Given the description of an element on the screen output the (x, y) to click on. 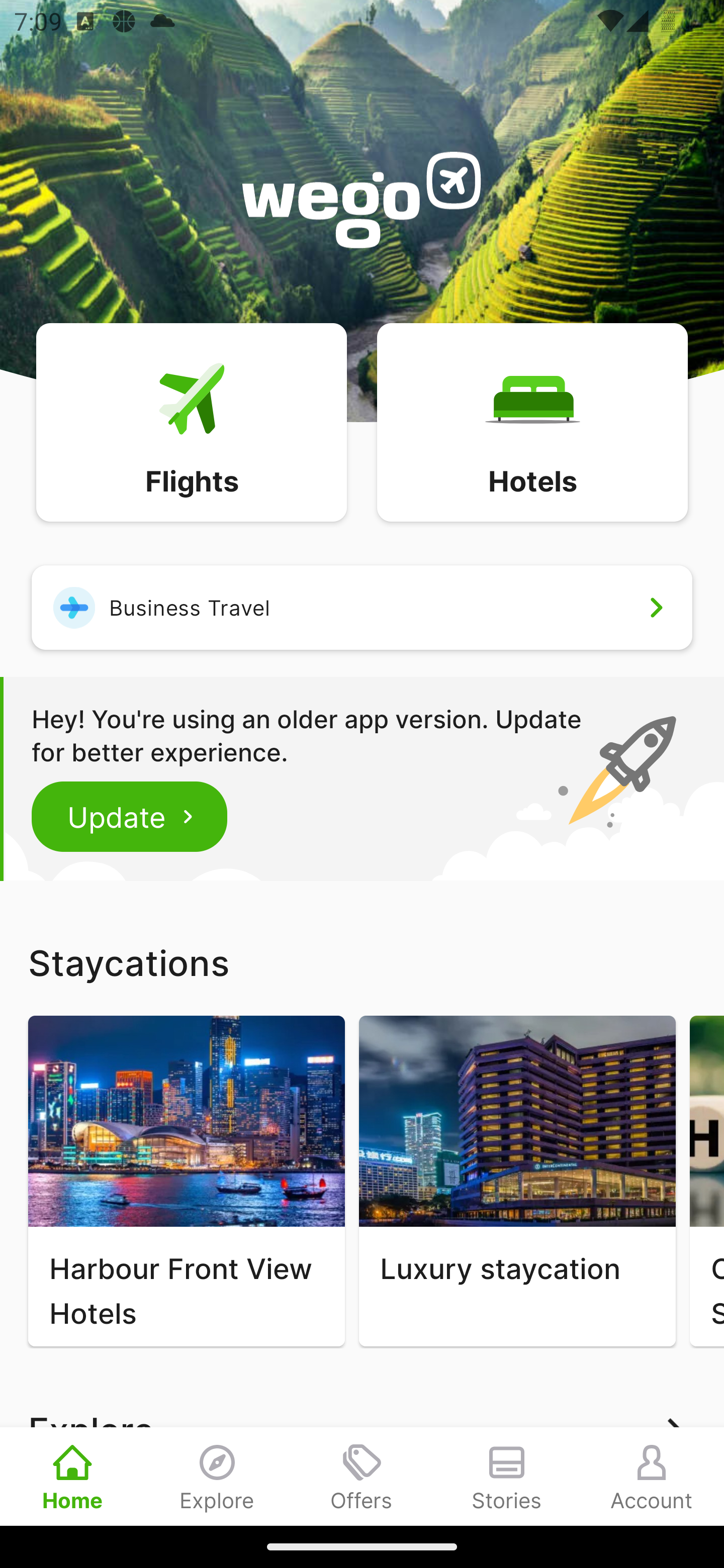
Flights (191, 420)
Hotels (532, 420)
Business Travel (361, 607)
Update (129, 815)
Staycations (362, 962)
Harbour Front View Hotels (186, 1181)
Luxury staycation (517, 1181)
Explore (216, 1475)
Offers (361, 1475)
Stories (506, 1475)
Account (651, 1475)
